Given the description of an element on the screen output the (x, y) to click on. 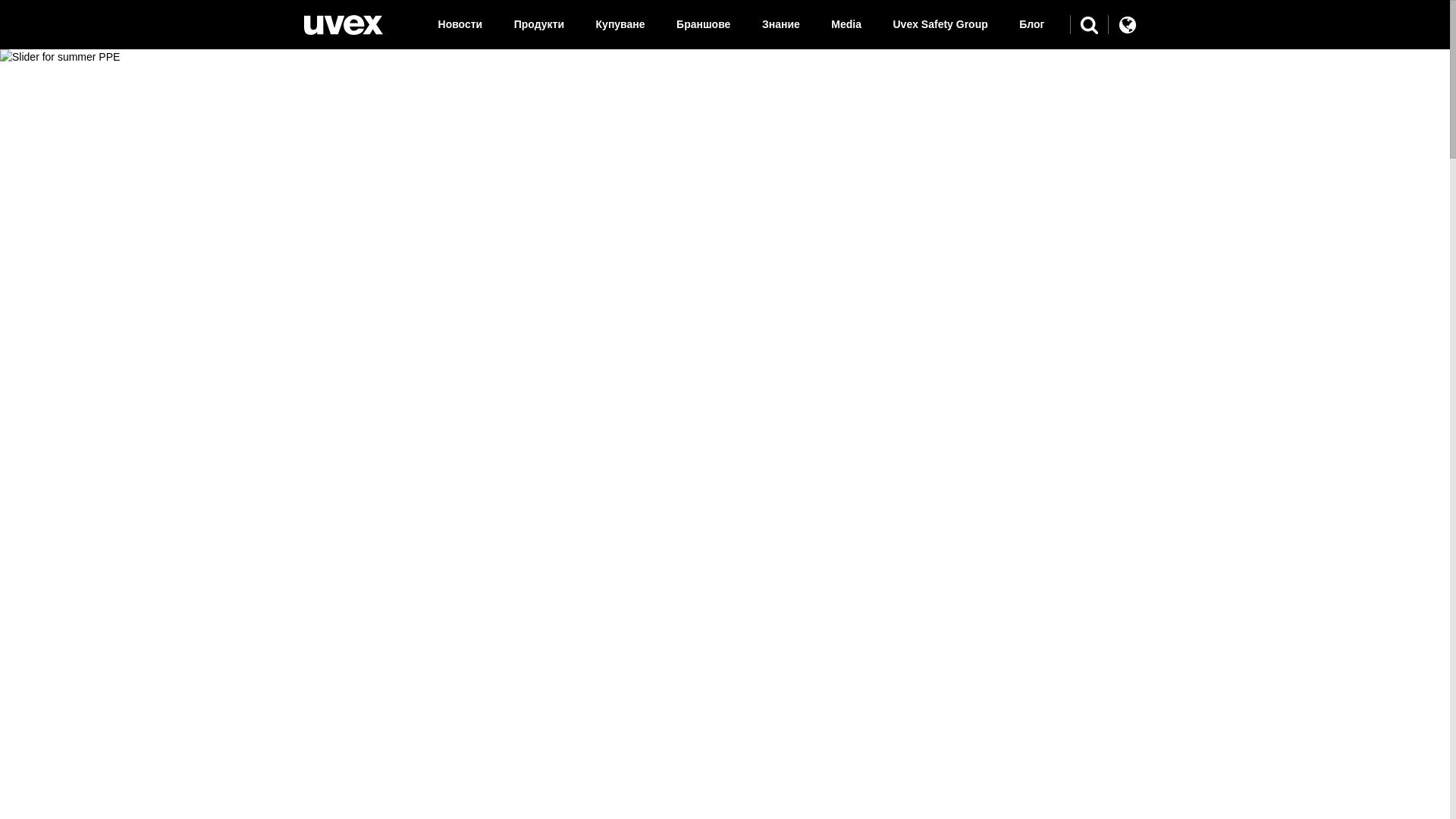
Show language menu (1126, 24)
Toggle search (1089, 24)
uvex safety (343, 25)
